Given the description of an element on the screen output the (x, y) to click on. 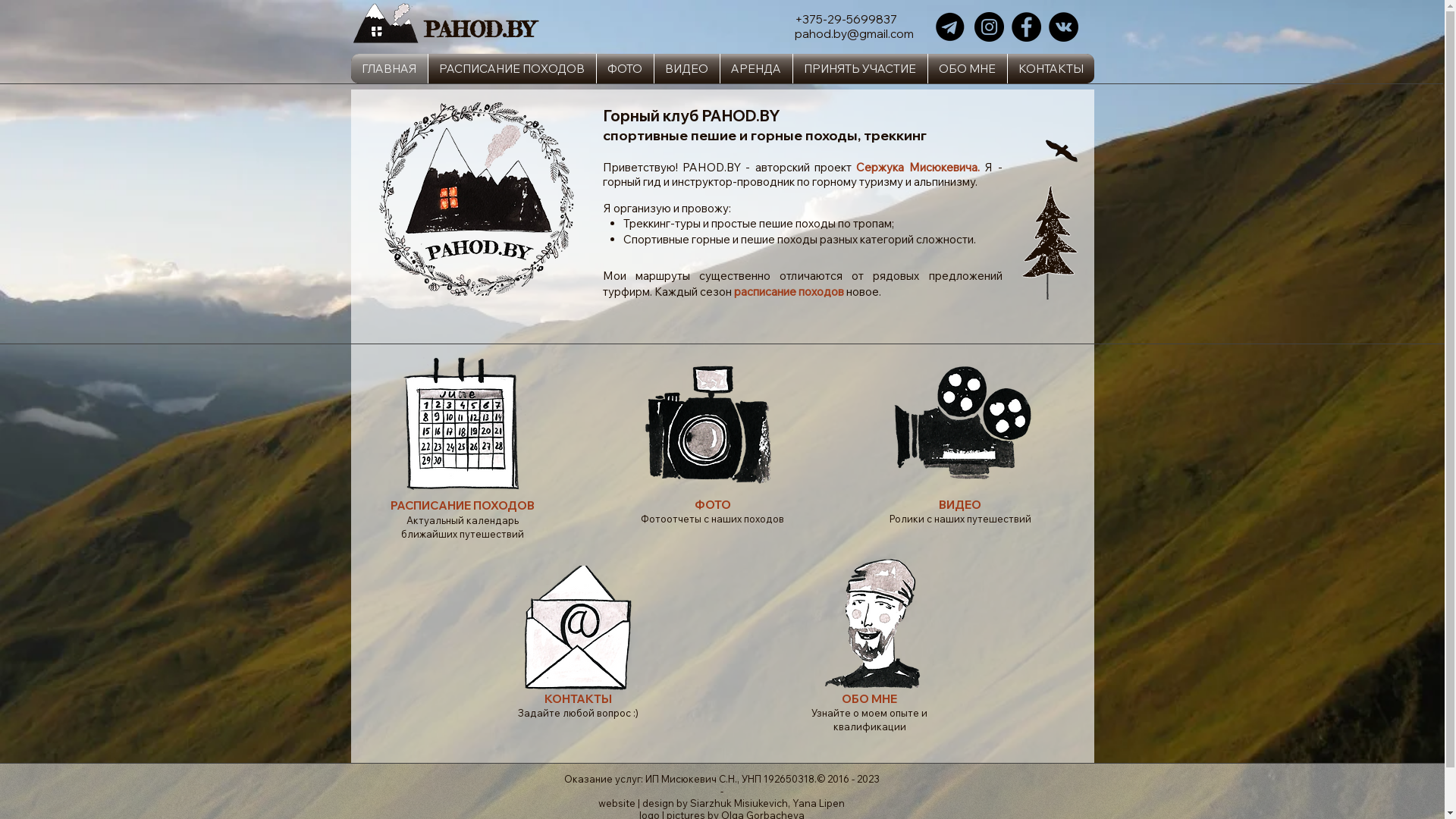
pahod.by@gmail.com Element type: text (853, 33)
PAHOD.BY Element type: text (711, 167)
PAHOD.BY Element type: text (478, 28)
